Given the description of an element on the screen output the (x, y) to click on. 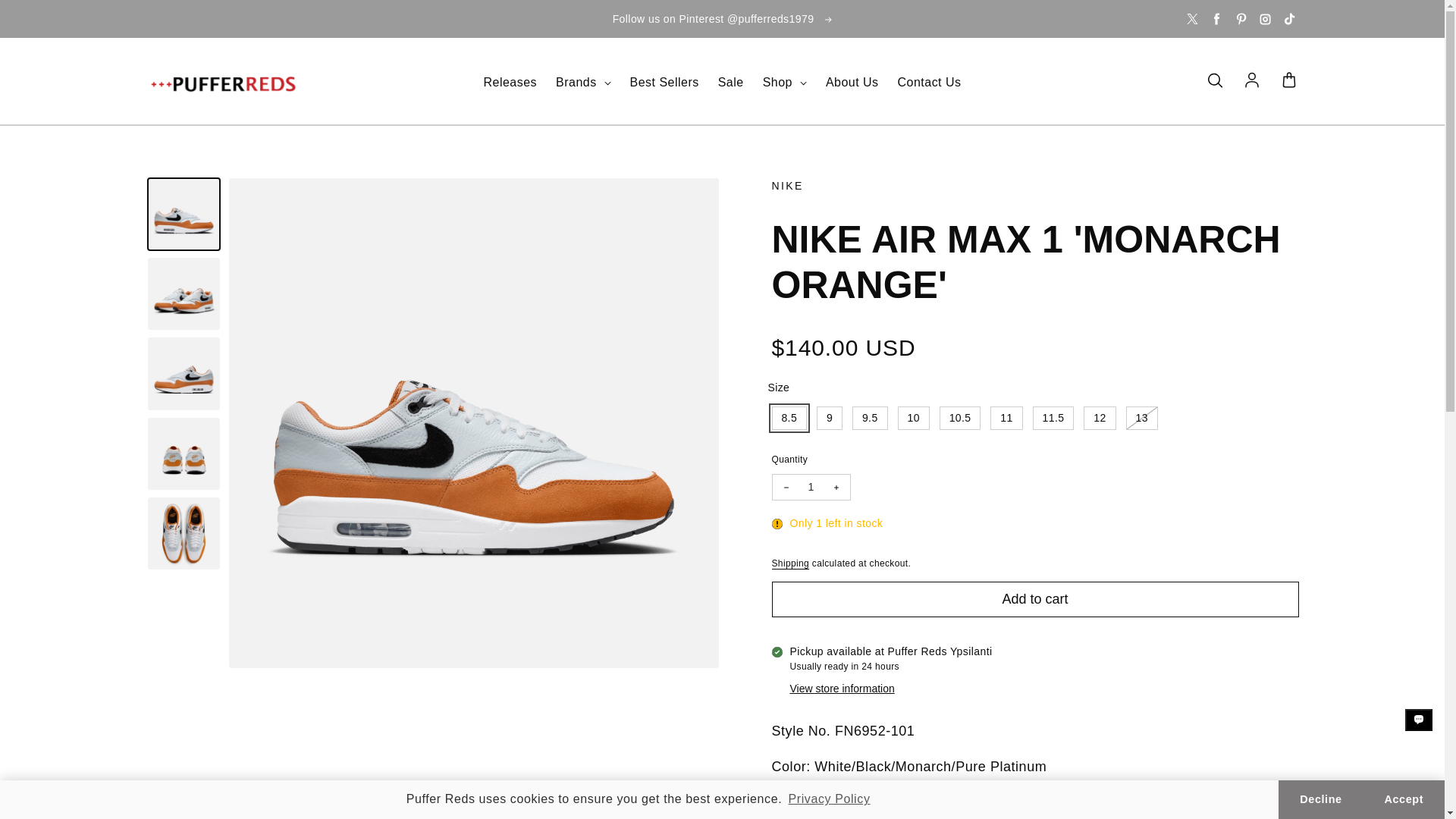
Pinterest (1240, 18)
Shop (784, 82)
About Us (852, 82)
Instagram (1265, 18)
Log in (1251, 81)
Decline (1320, 799)
Facebook (1216, 18)
